Given the description of an element on the screen output the (x, y) to click on. 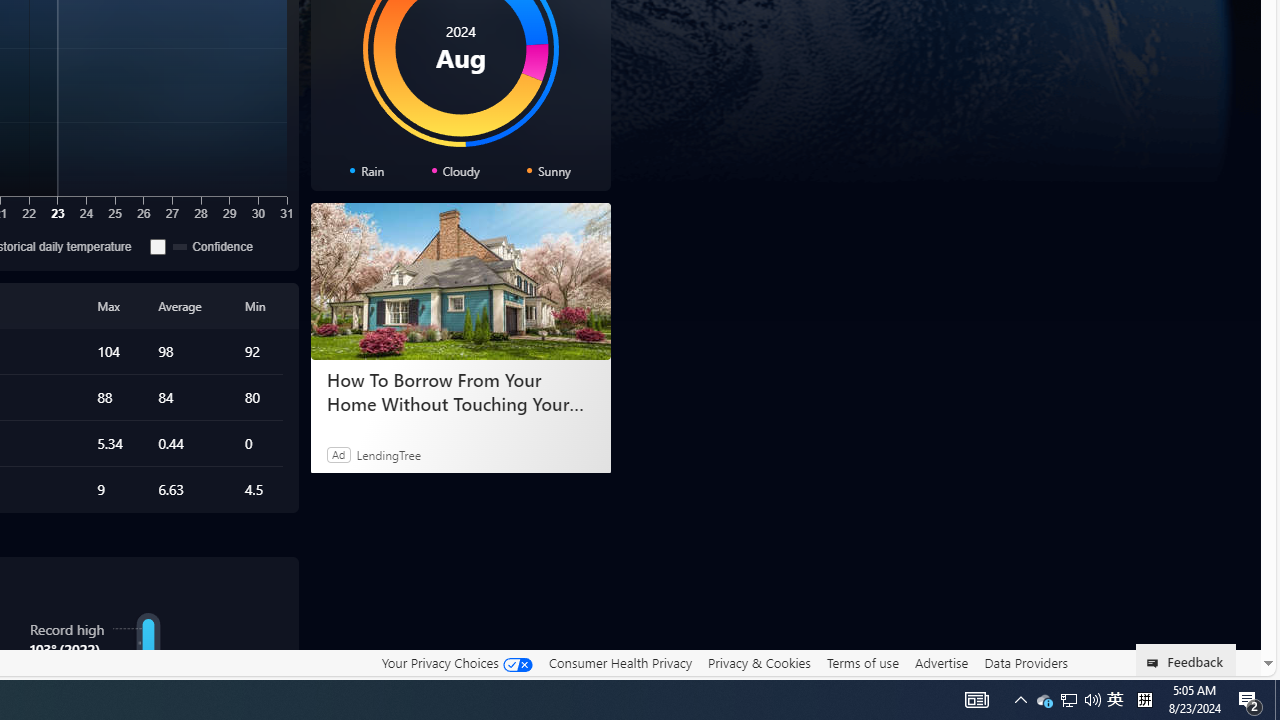
Confidence (214, 246)
Terms of use (861, 663)
Your Privacy Choices (456, 662)
Your Privacy Choices (456, 663)
Privacy & Cookies (759, 663)
Privacy & Cookies (759, 662)
Class: feedback_link_icon-DS-EntryPoint1-1 (1156, 663)
Confidence (157, 246)
Data Providers (1025, 663)
Data Providers (1025, 662)
